Given the description of an element on the screen output the (x, y) to click on. 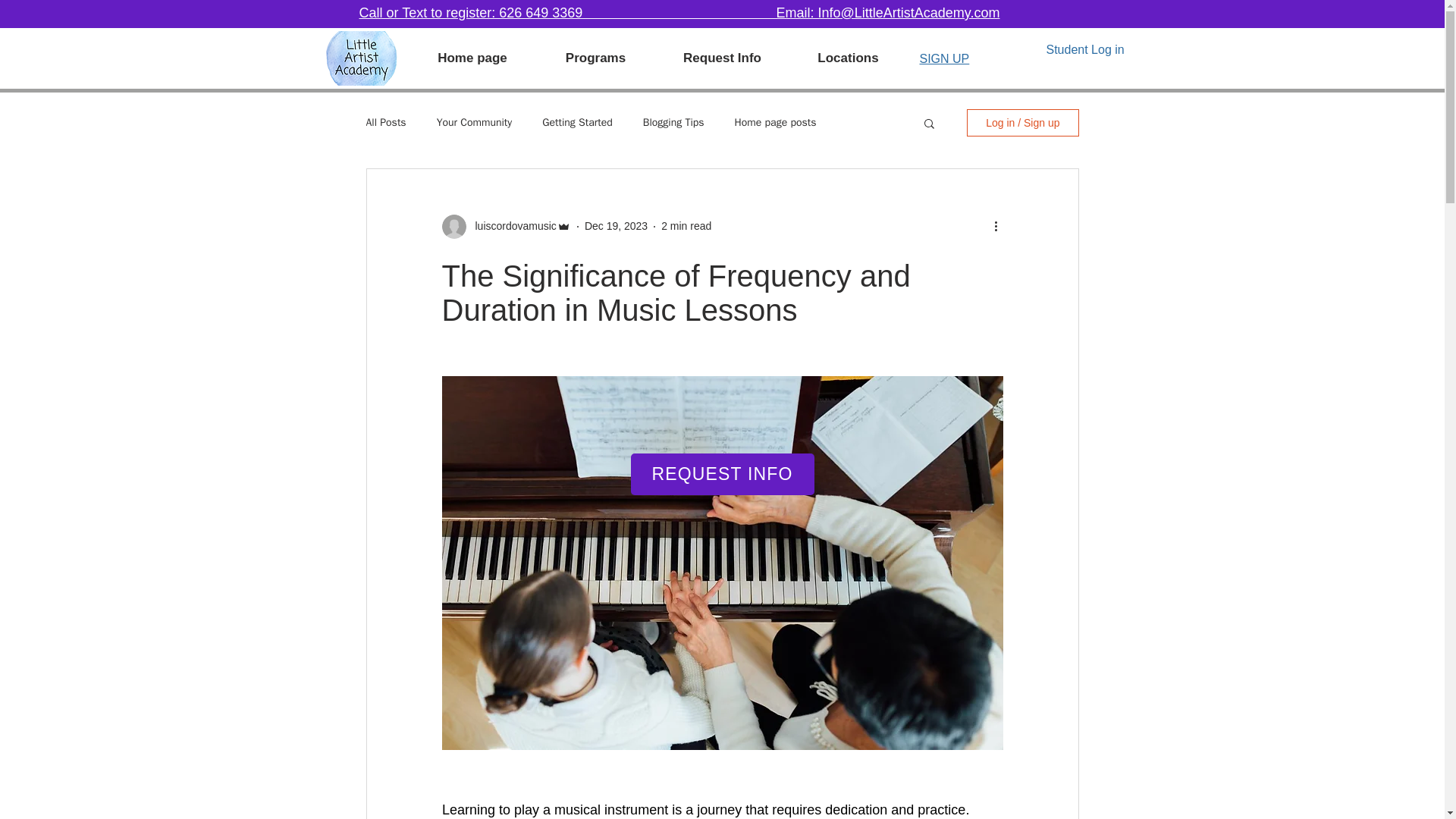
Getting Started (576, 122)
luiscordovamusic (510, 226)
Home page (472, 57)
Dec 19, 2023 (616, 225)
Home page posts (775, 122)
Your Community (474, 122)
All Posts (385, 122)
2 min read (686, 225)
Programs (595, 57)
Blogging Tips (673, 122)
Locations (847, 57)
Request Info (721, 57)
Student Log in (1085, 49)
SIGN UP (943, 58)
